Given the description of an element on the screen output the (x, y) to click on. 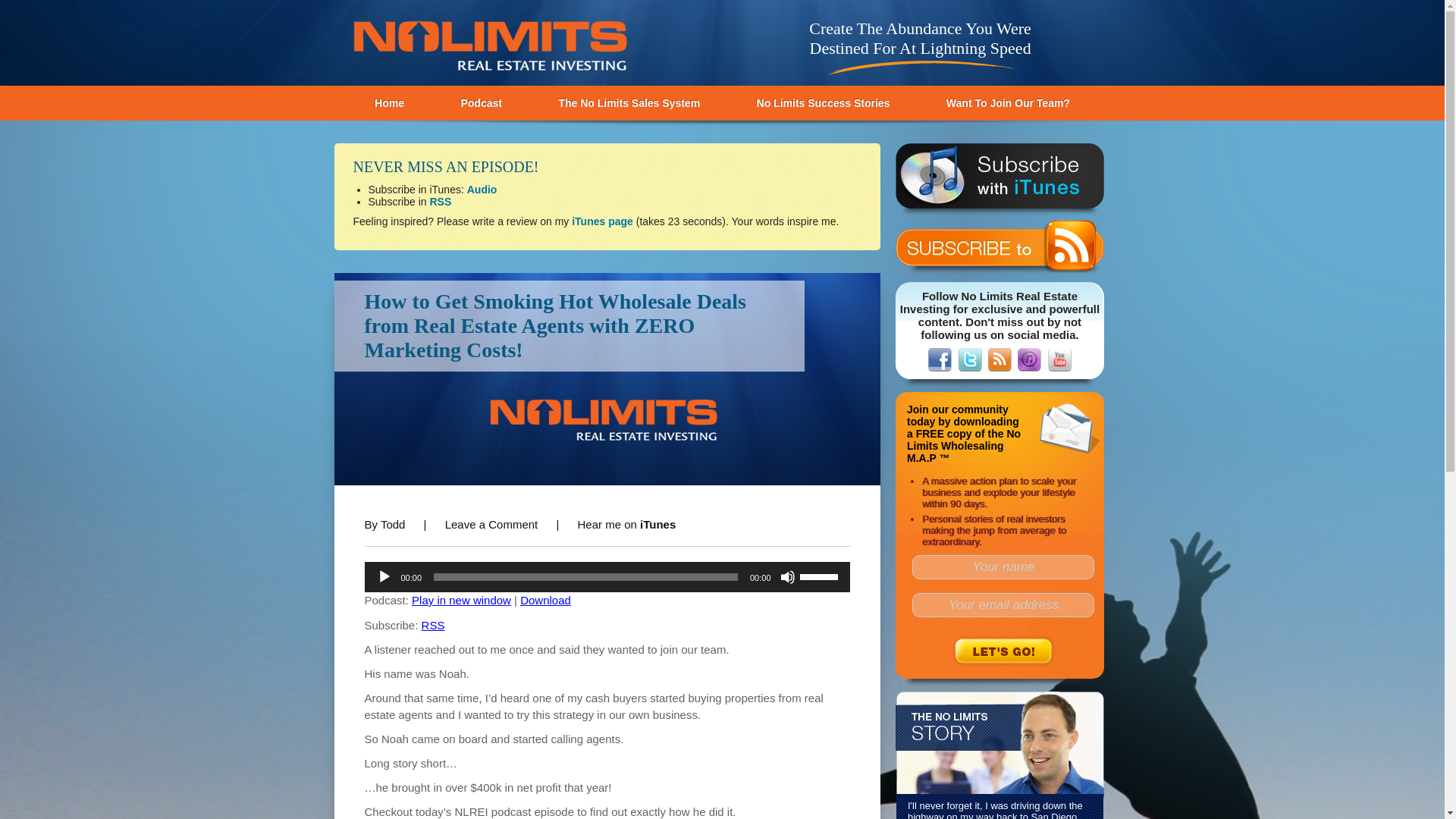
RSS (440, 201)
Play (383, 576)
feed (999, 359)
Download (544, 599)
itunes (1029, 359)
Podcast (480, 102)
Play in new window (461, 599)
The No Limits Sales System (628, 102)
Mute (786, 576)
Want To Join Our Team? (1008, 102)
Audio (482, 189)
youtube (1059, 359)
Your email address (1003, 604)
Home (388, 102)
